Given the description of an element on the screen output the (x, y) to click on. 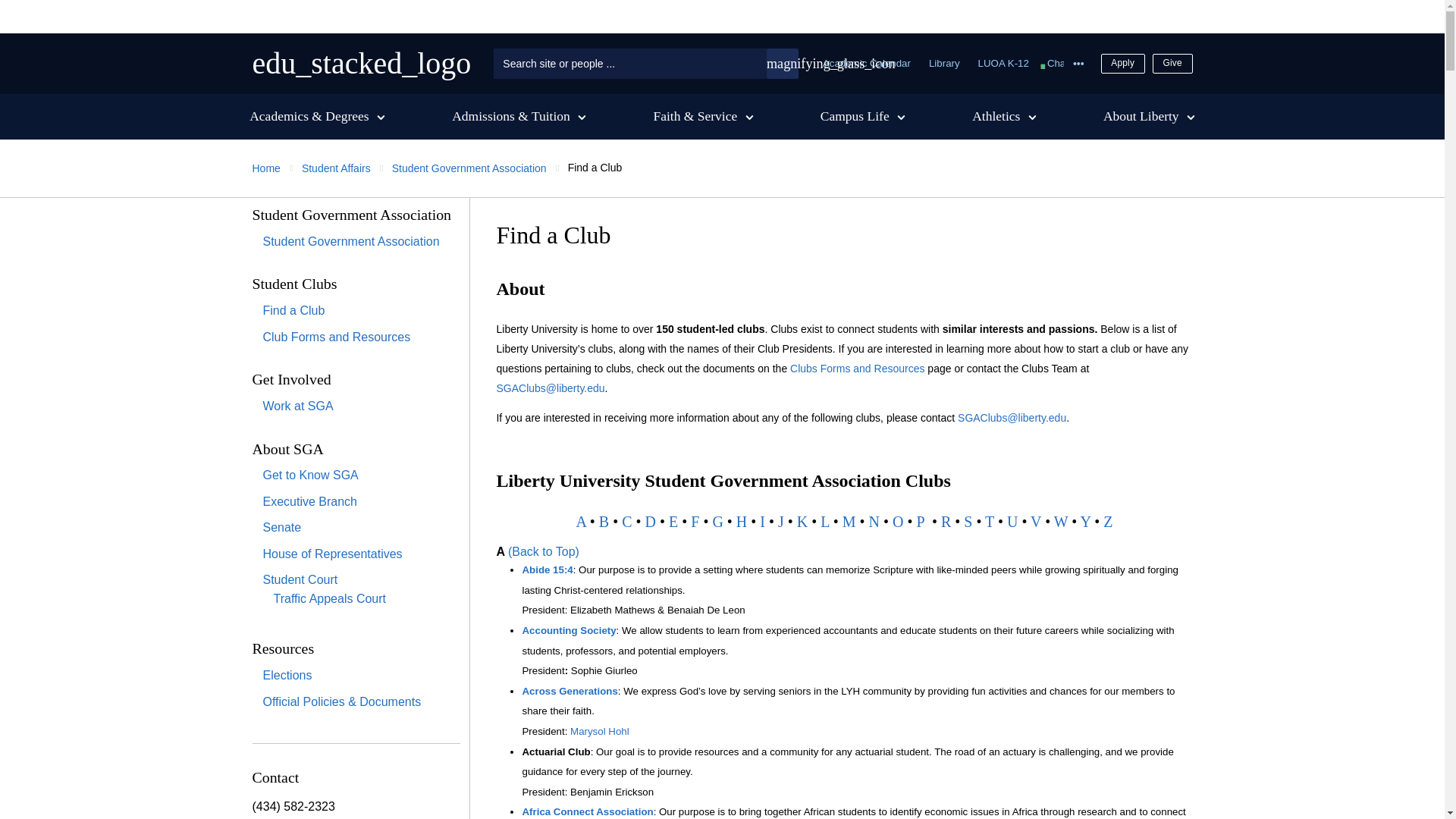
Chat (1057, 62)
Home (469, 168)
Academic Calendar (866, 62)
Home (265, 168)
About Liberty (1149, 116)
Athletics (1004, 116)
Apply (1122, 63)
Give (1172, 63)
Student Affairs (336, 168)
Campus Life (863, 116)
